Given the description of an element on the screen output the (x, y) to click on. 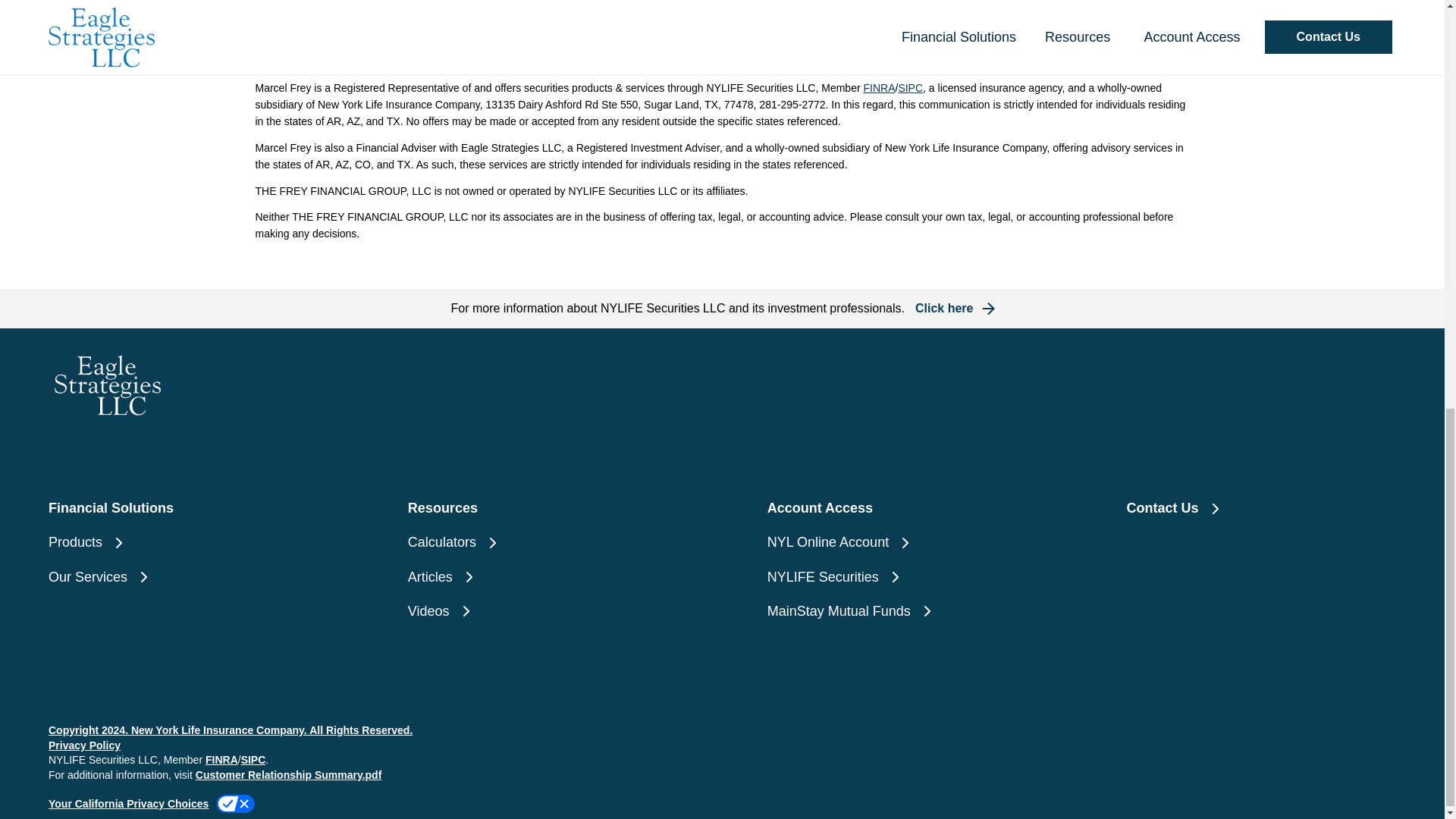
NYLIFE Securities (901, 577)
Products (182, 542)
Videos (542, 610)
SIPC (253, 759)
FINRA (221, 759)
Calculators (542, 542)
FINRA (879, 87)
Articles (542, 577)
Calculators (542, 542)
Resources (542, 507)
Videos (542, 610)
MainStay Mutual Funds (901, 610)
Our Services (182, 577)
Financial Solutions (182, 507)
NYL Online Account (901, 542)
